Given the description of an element on the screen output the (x, y) to click on. 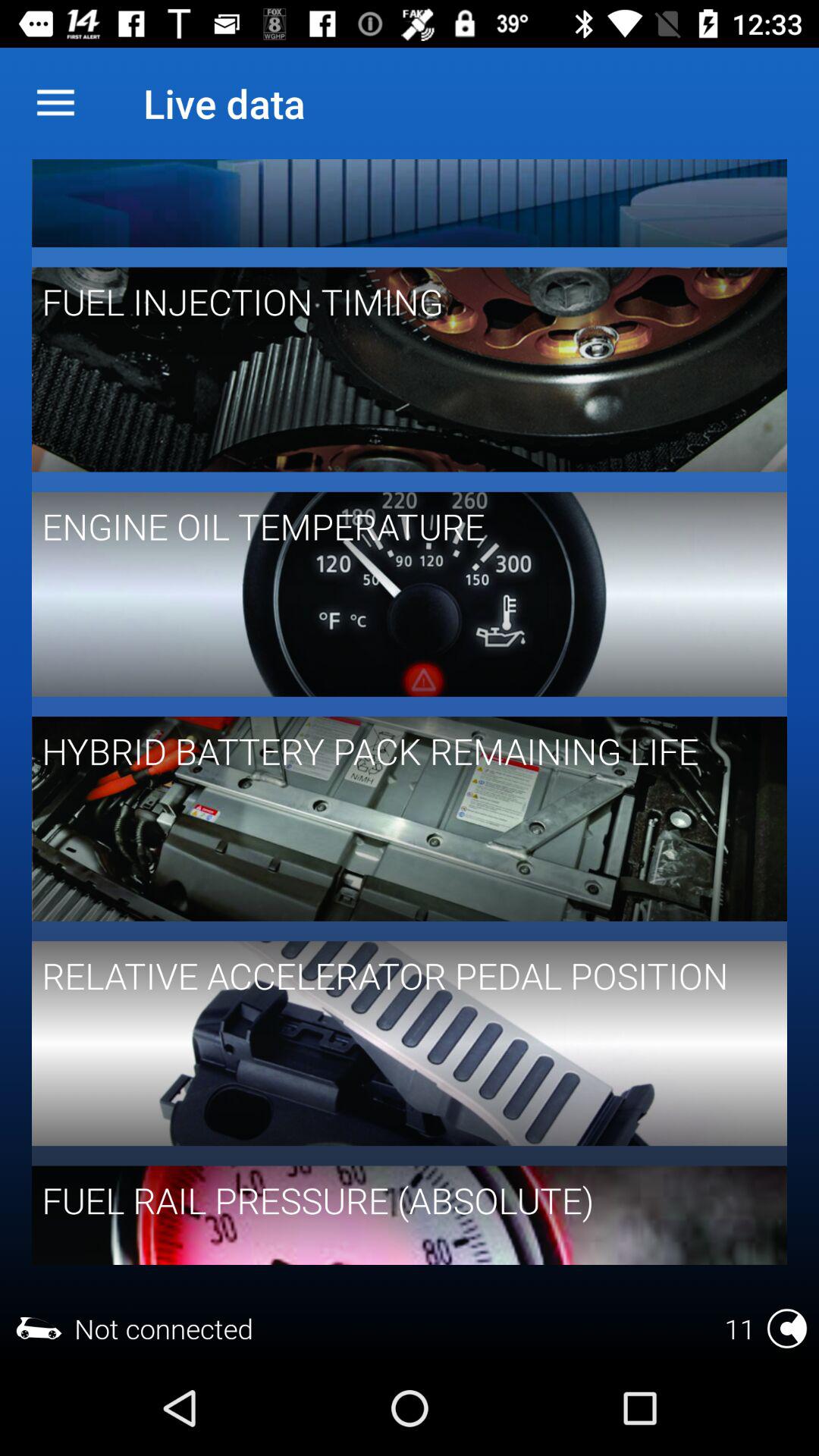
swipe to engine oil temperature icon (398, 525)
